Given the description of an element on the screen output the (x, y) to click on. 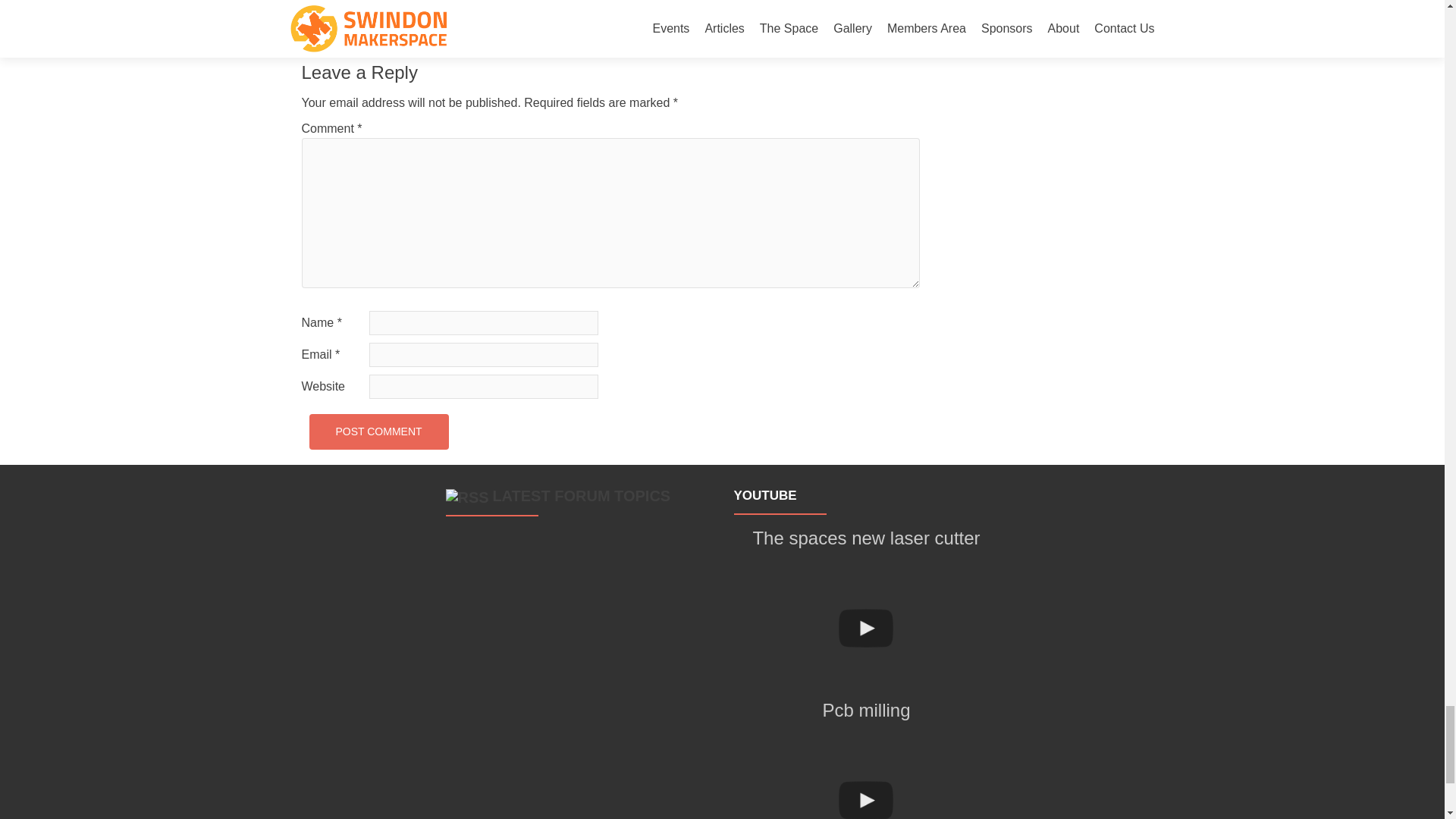
Post Comment (378, 431)
The spaces new laser cutter (865, 627)
Post Comment (378, 431)
Pcb milling (865, 772)
